Given the description of an element on the screen output the (x, y) to click on. 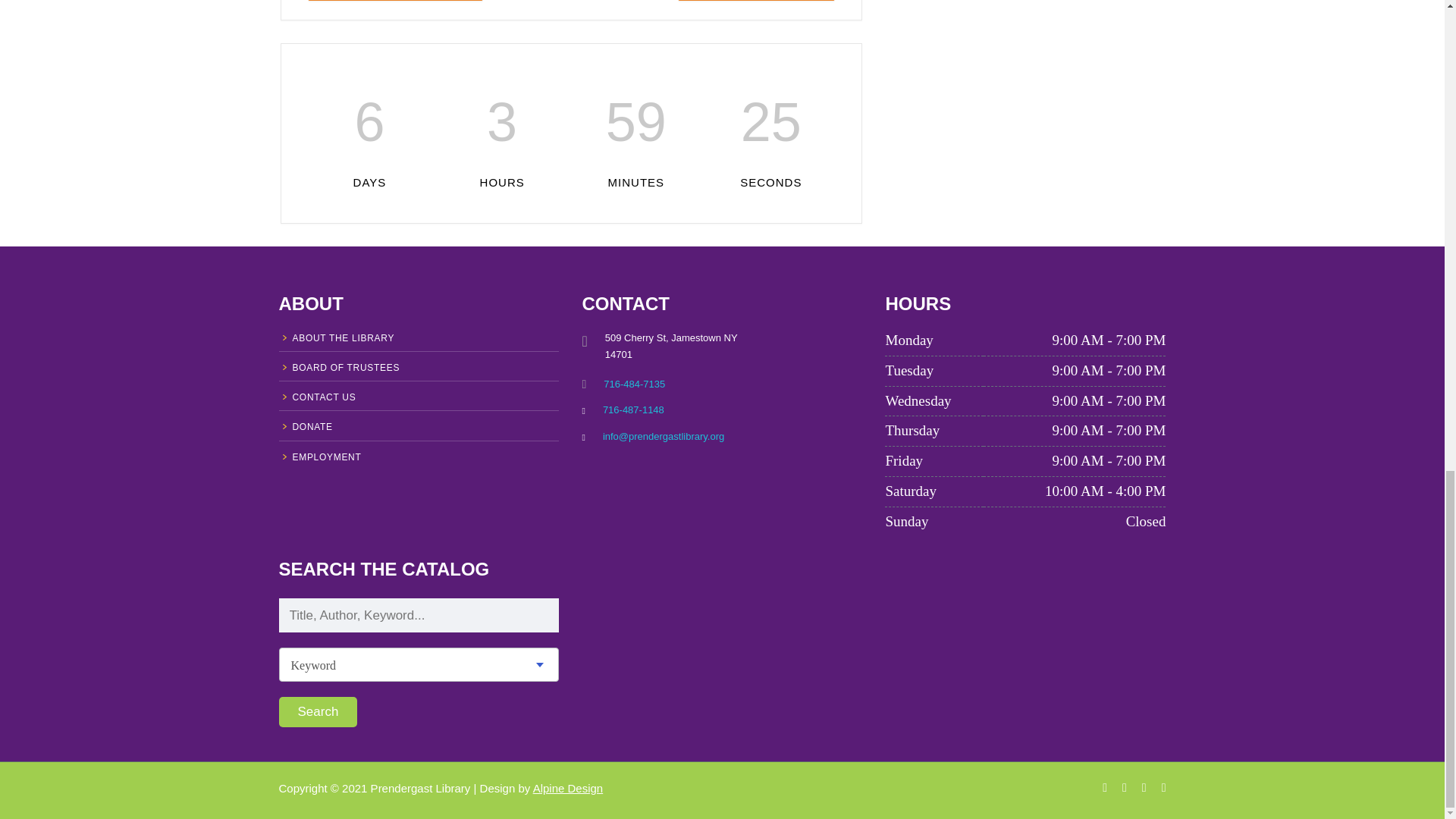
Keyword (418, 665)
Search (318, 711)
